Given the description of an element on the screen output the (x, y) to click on. 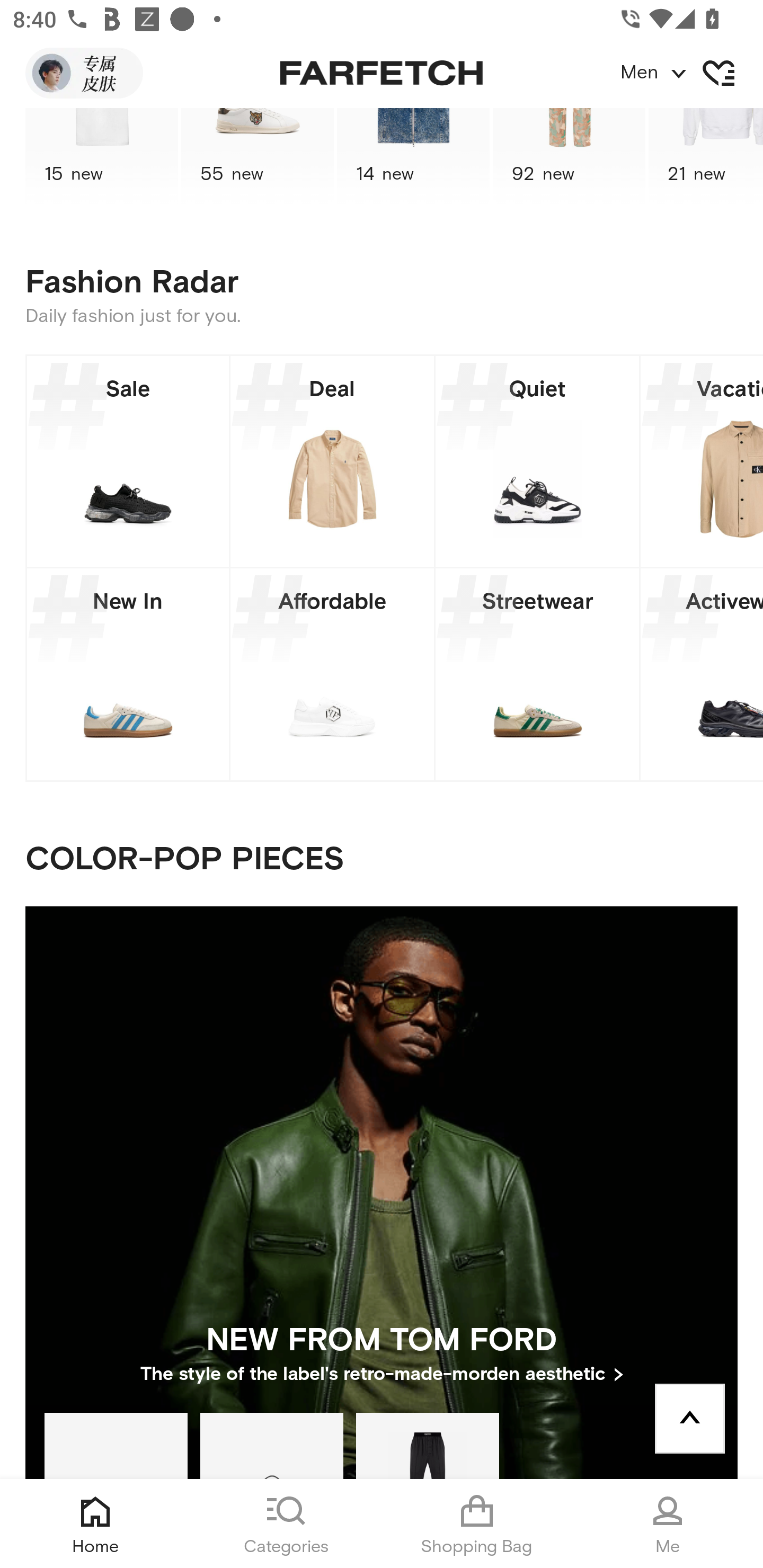
Men (691, 72)
15  new (101, 156)
55  new (257, 156)
14  new (413, 156)
92  new (568, 156)
21  new (705, 156)
Sale (127, 460)
Deal (332, 460)
Quiet (537, 460)
Vacation (701, 460)
New In (127, 673)
Affordable (332, 673)
Streetwear (537, 673)
Activewear (701, 673)
TOM FORD (427, 1445)
Categories (285, 1523)
Shopping Bag (476, 1523)
Me (667, 1523)
